Given the description of an element on the screen output the (x, y) to click on. 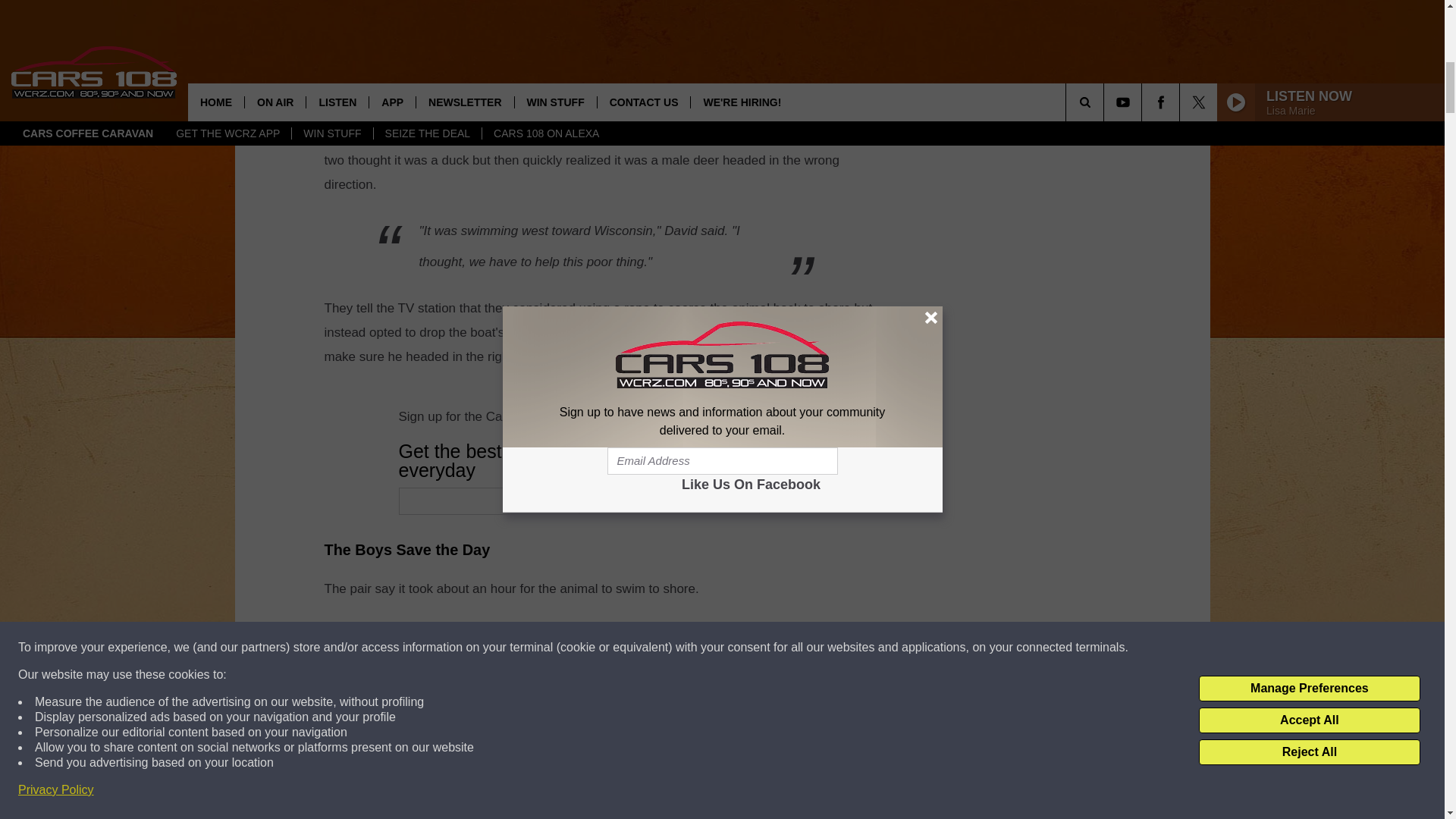
Email Address (669, 501)
